Given the description of an element on the screen output the (x, y) to click on. 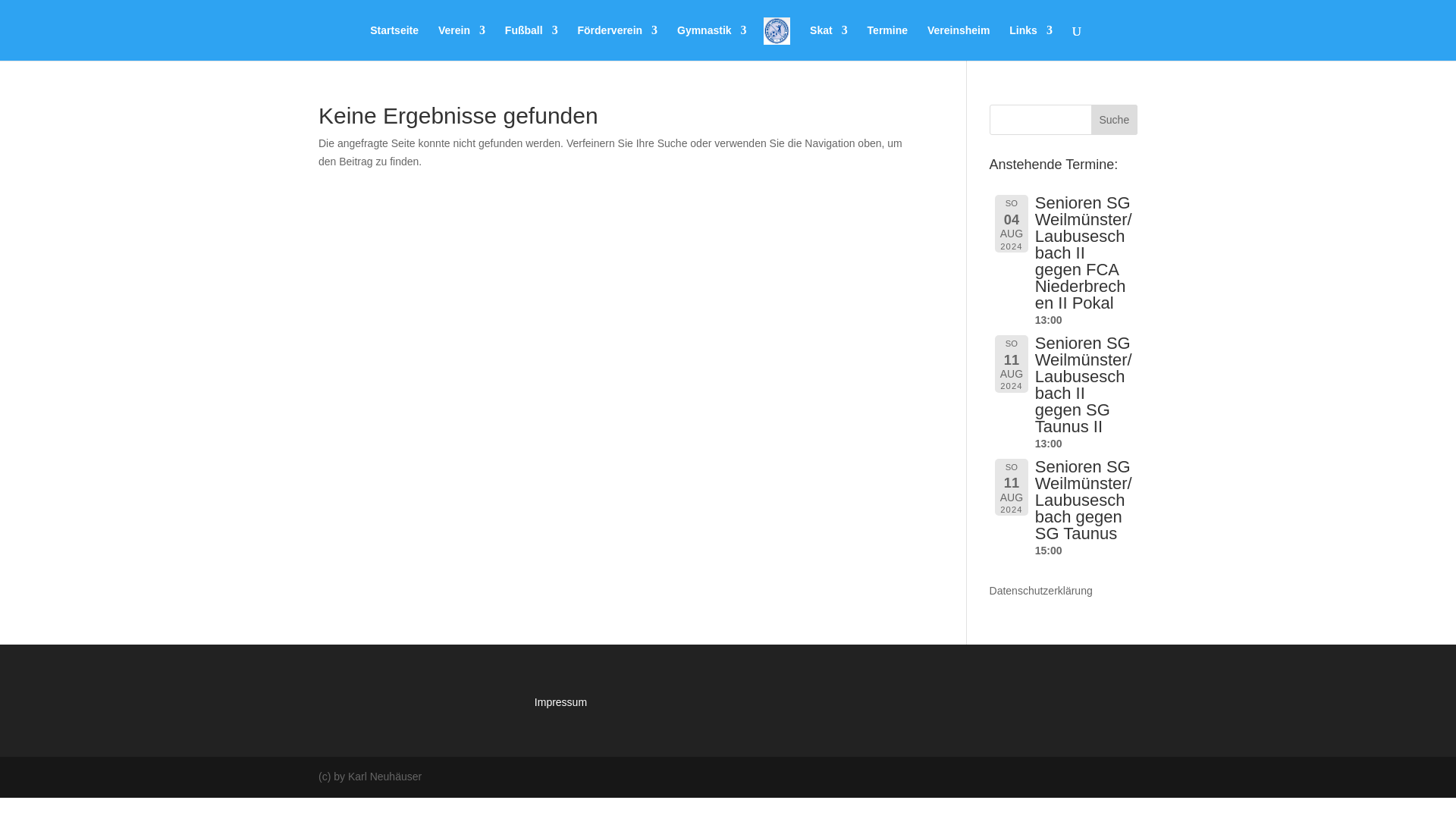
Suche (1113, 119)
Verein (461, 42)
Startseite (394, 42)
